Given the description of an element on the screen output the (x, y) to click on. 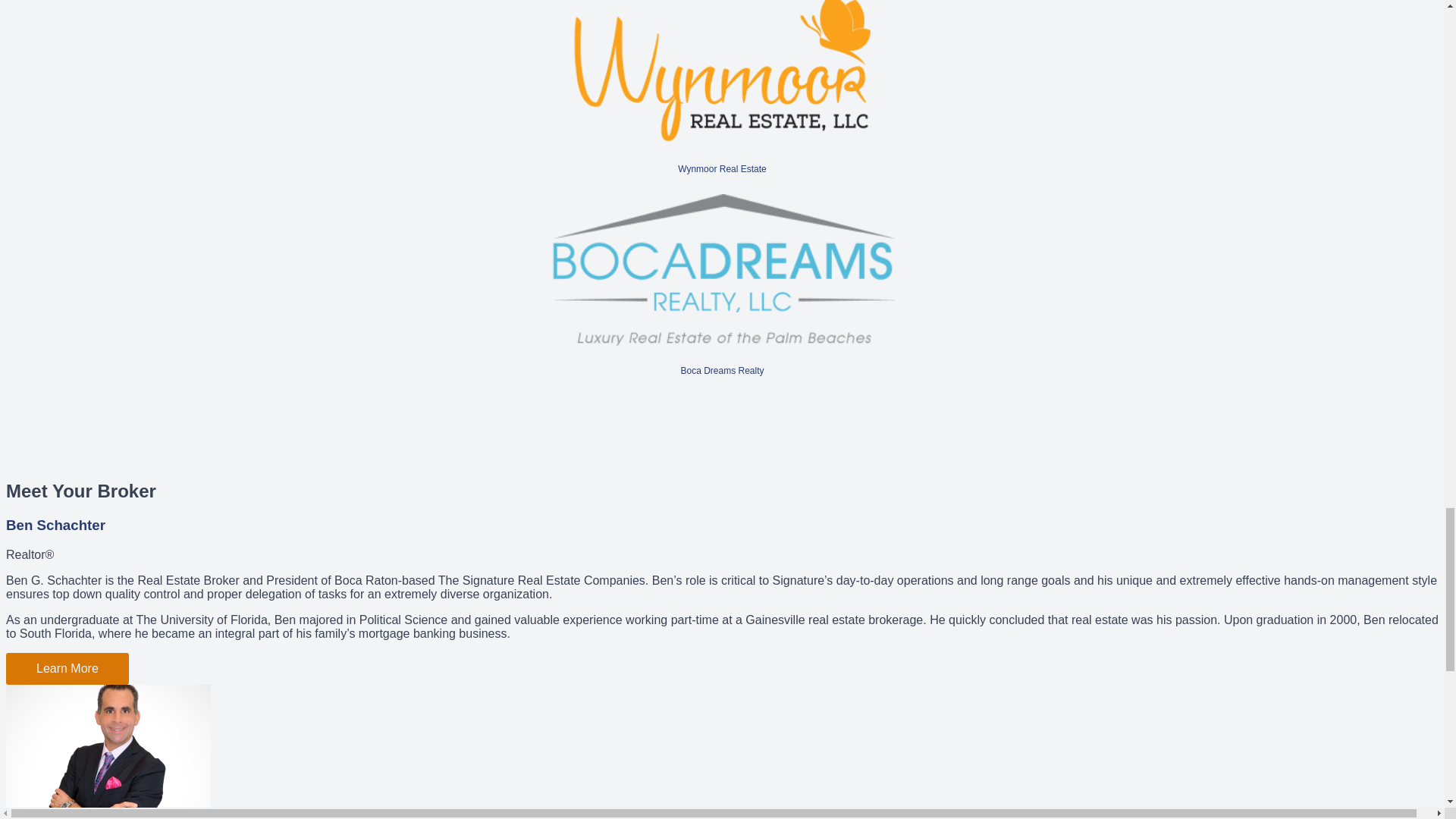
Learn More (67, 668)
